Given the description of an element on the screen output the (x, y) to click on. 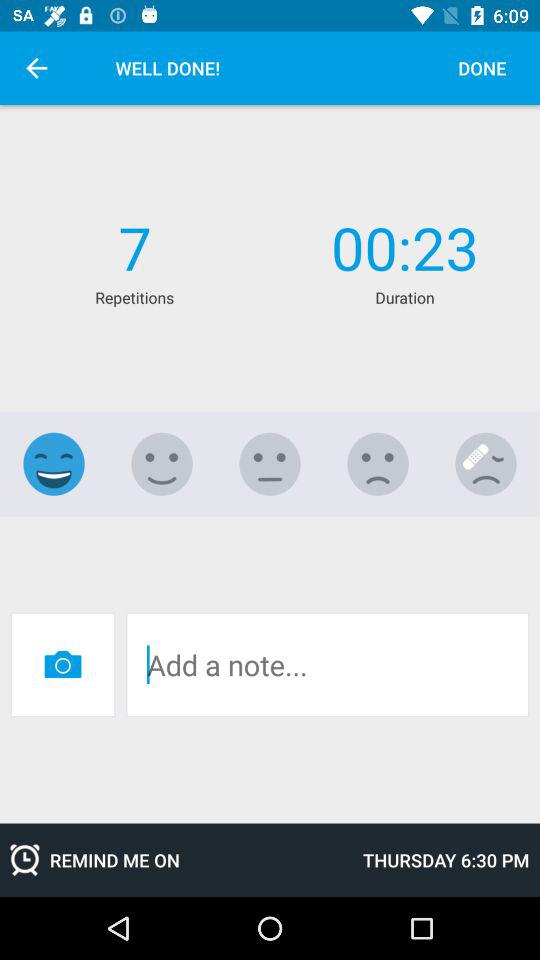
select smiley face (54, 463)
